Given the description of an element on the screen output the (x, y) to click on. 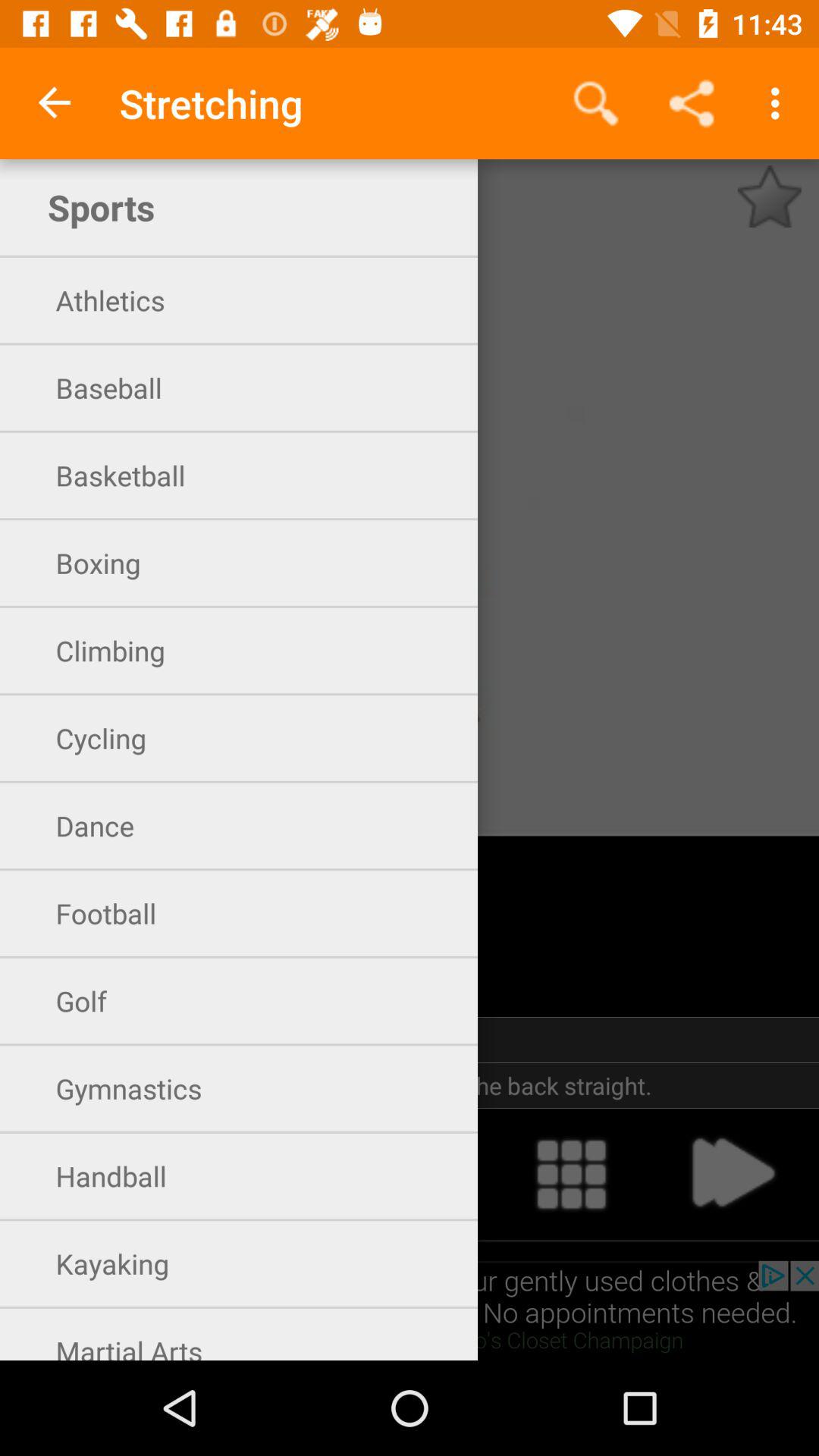
turn on the icon next to 7/16 (769, 196)
